Given the description of an element on the screen output the (x, y) to click on. 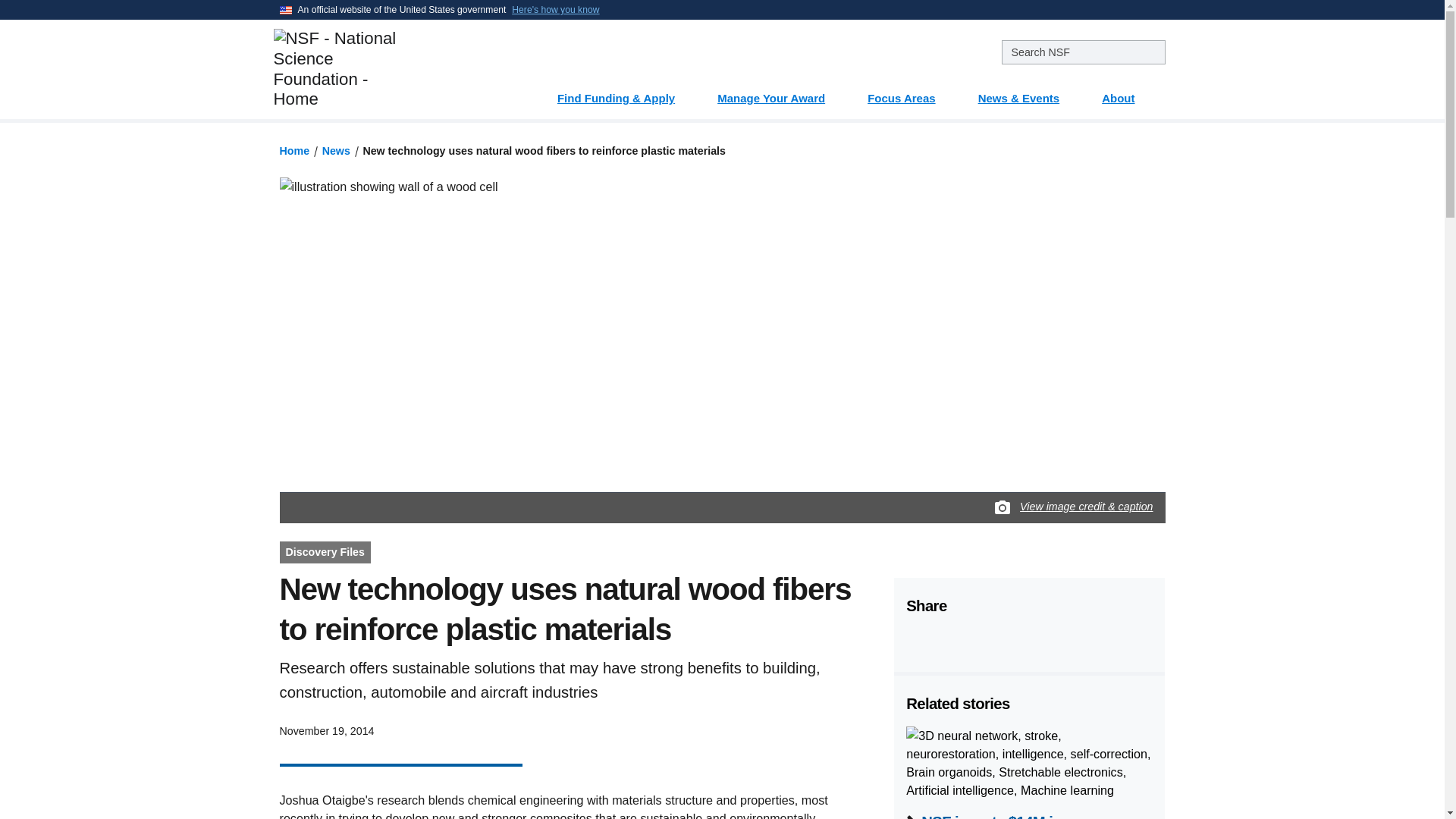
NSF - National Science Foundation - Home (385, 68)
LinkedIn (992, 640)
search (1082, 52)
Focus Areas (910, 92)
Facebook (917, 640)
About (1126, 92)
News (335, 150)
Email (1030, 640)
Here's how you know (555, 9)
Home (293, 150)
